Given the description of an element on the screen output the (x, y) to click on. 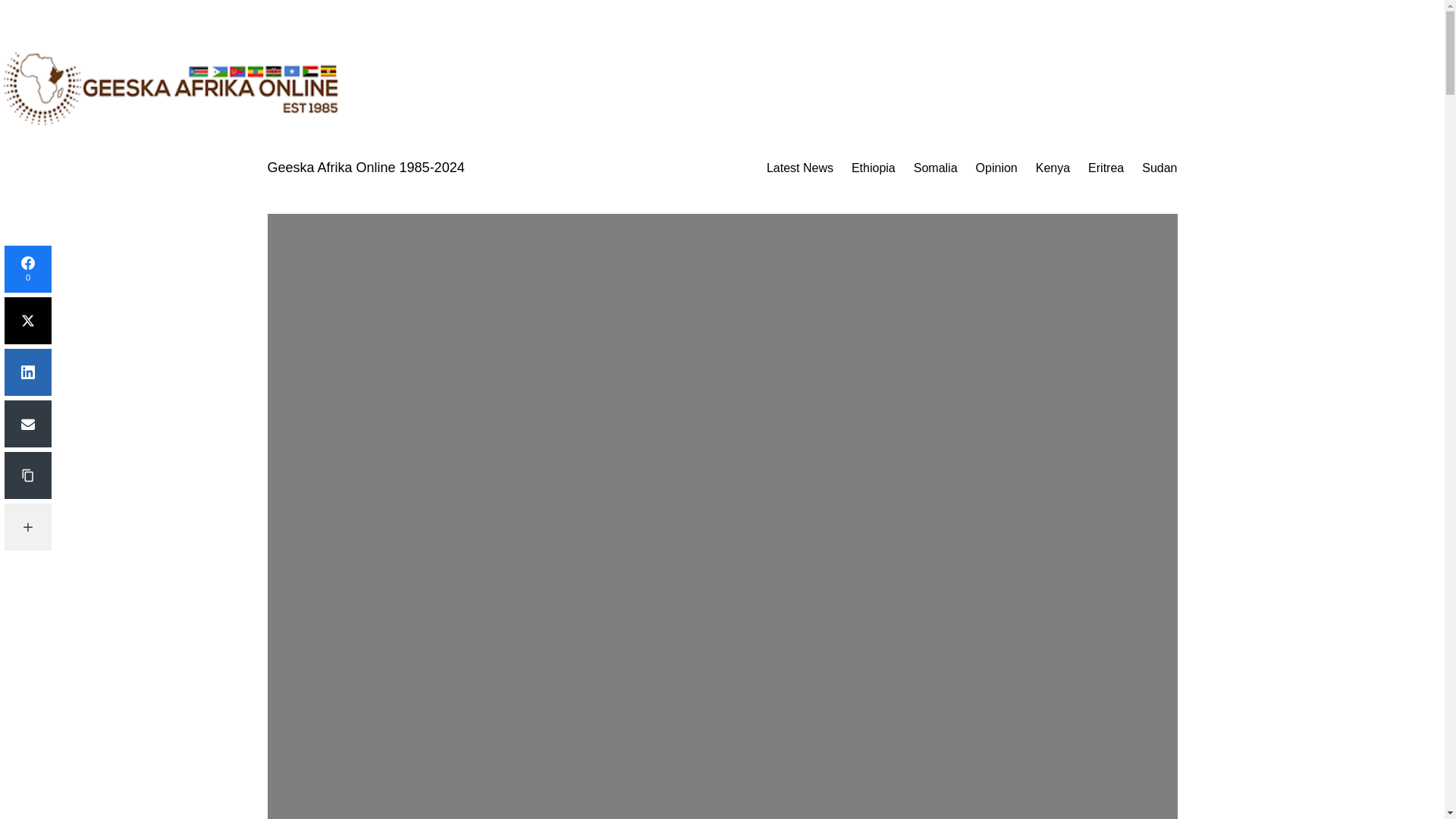
Ethiopia (873, 168)
0 (27, 268)
Sudan (1158, 168)
Latest News (799, 168)
Kenya (1052, 168)
Eritrea (1105, 168)
Opinion (996, 168)
Somalia (936, 168)
Geeska Afrika Online 1985-2024 (365, 167)
